Given the description of an element on the screen output the (x, y) to click on. 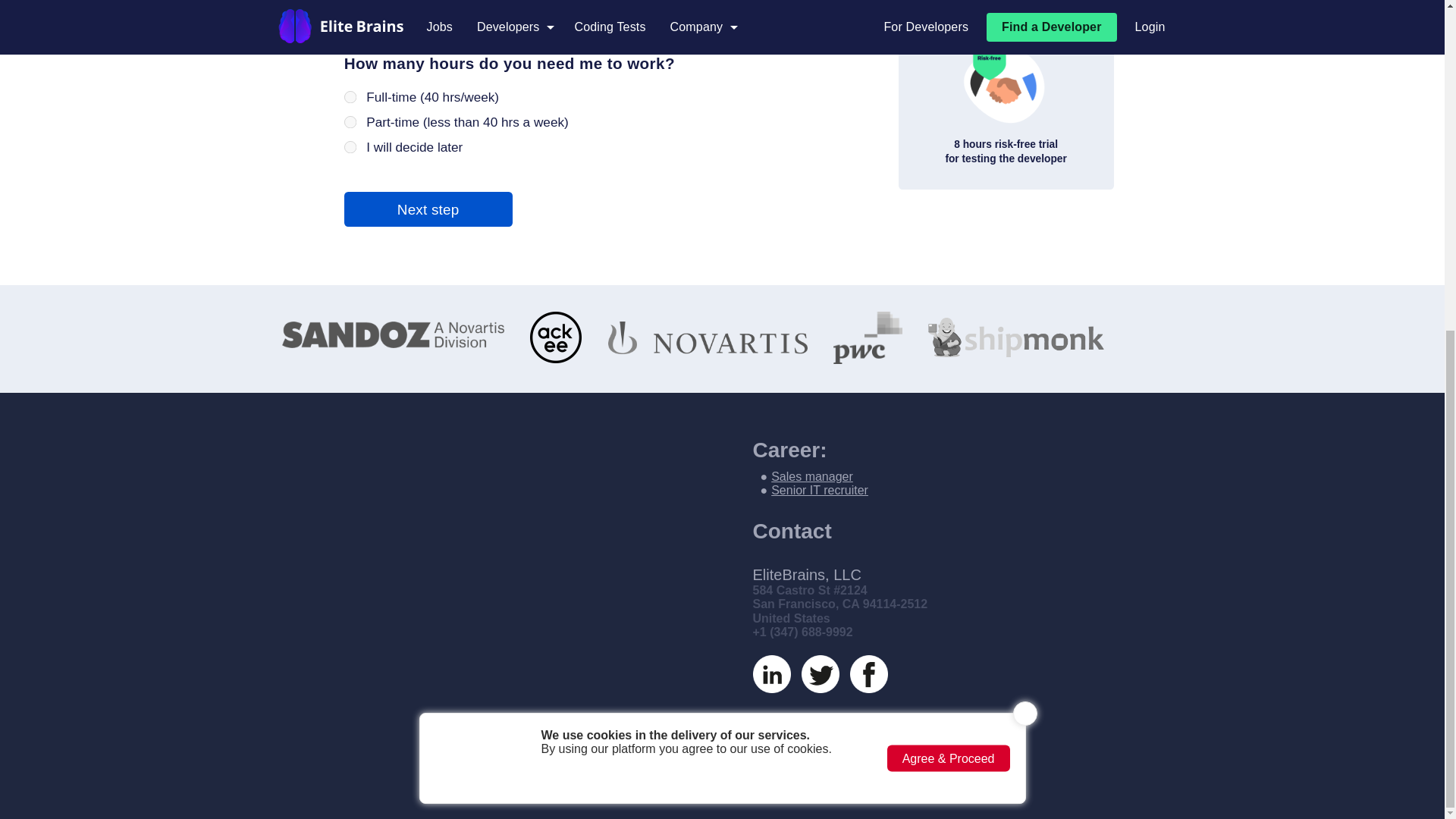
more than 6 months (407, 95)
I will decide later (407, 259)
Sales manager (812, 476)
less than 1 month (407, 37)
Sitemap (812, 780)
1-6 months (407, 66)
Next step (497, 332)
Senior IT recruiter (819, 490)
